Given the description of an element on the screen output the (x, y) to click on. 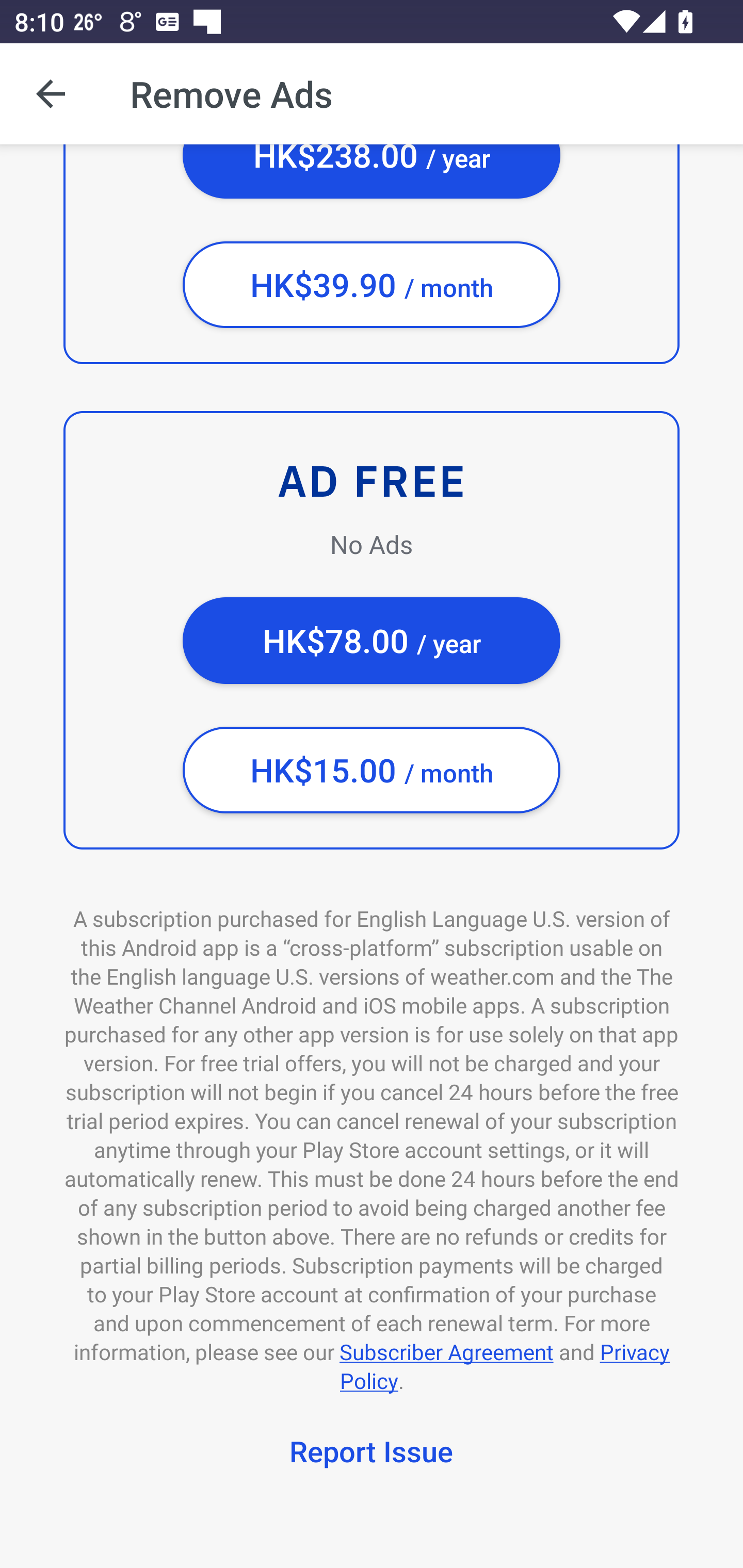
Navigate up (50, 93)
HK$238.00 / year (371, 171)
HK$39.90 / month (371, 284)
HK$78.00 / year (371, 640)
HK$15.00 / month (371, 769)
Report Issue (371, 1454)
